Given the description of an element on the screen output the (x, y) to click on. 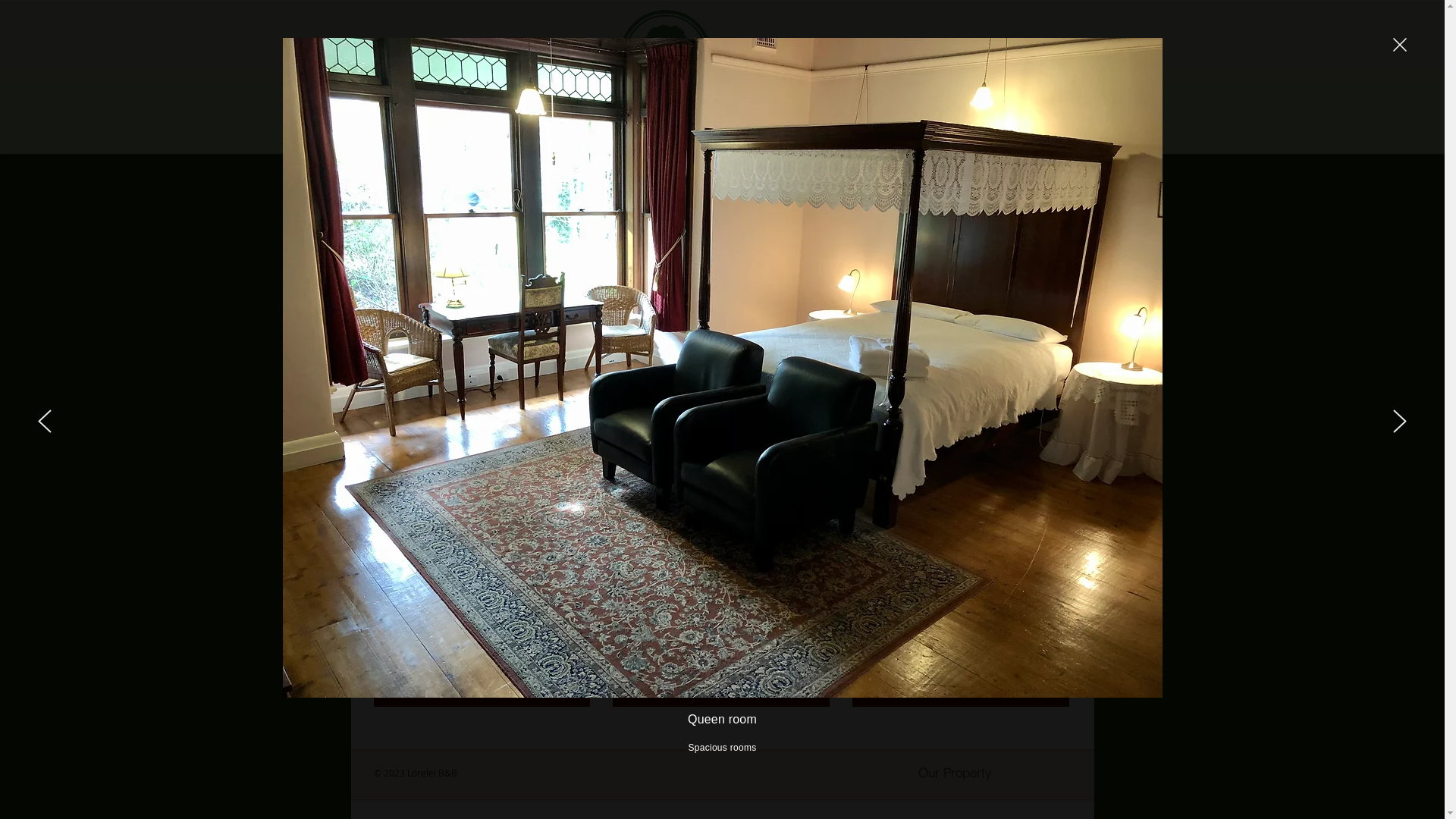
Location Element type: text (1000, 130)
Guest Directory Element type: text (661, 130)
Food & Beverages Element type: text (774, 130)
Book Now Element type: text (930, 84)
Our Property Element type: text (887, 130)
Home Element type: text (435, 130)
Our Property Element type: text (954, 772)
Rooms & Rates Element type: text (548, 130)
